Given the description of an element on the screen output the (x, y) to click on. 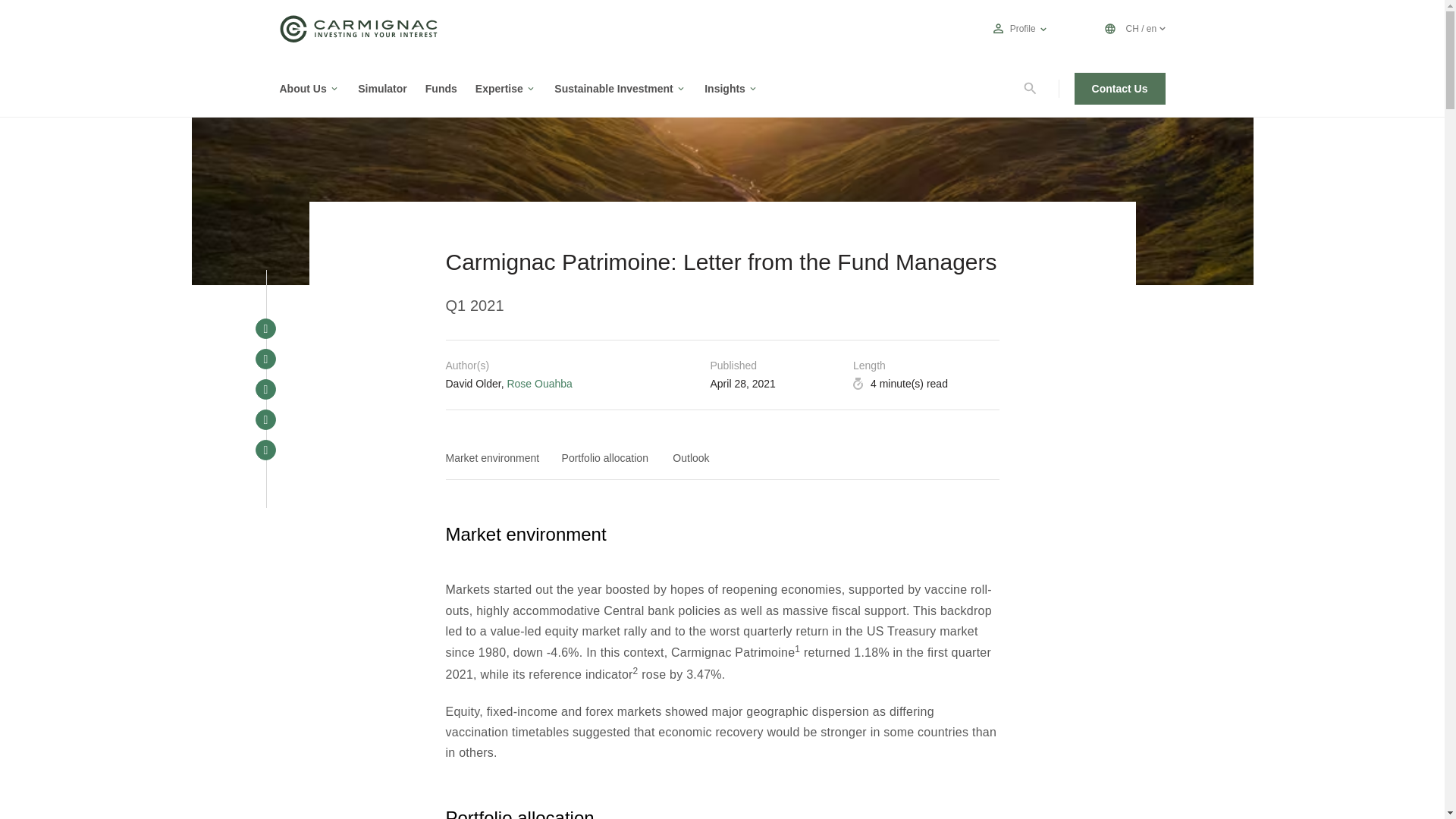
Sustainable Investment (613, 87)
Profile (1022, 28)
Insights (724, 87)
Go to Home Page (357, 38)
Portfolio allocation (610, 458)
Market environment (496, 458)
Expertise (499, 87)
Outlook (692, 458)
About Us (302, 87)
